Given the description of an element on the screen output the (x, y) to click on. 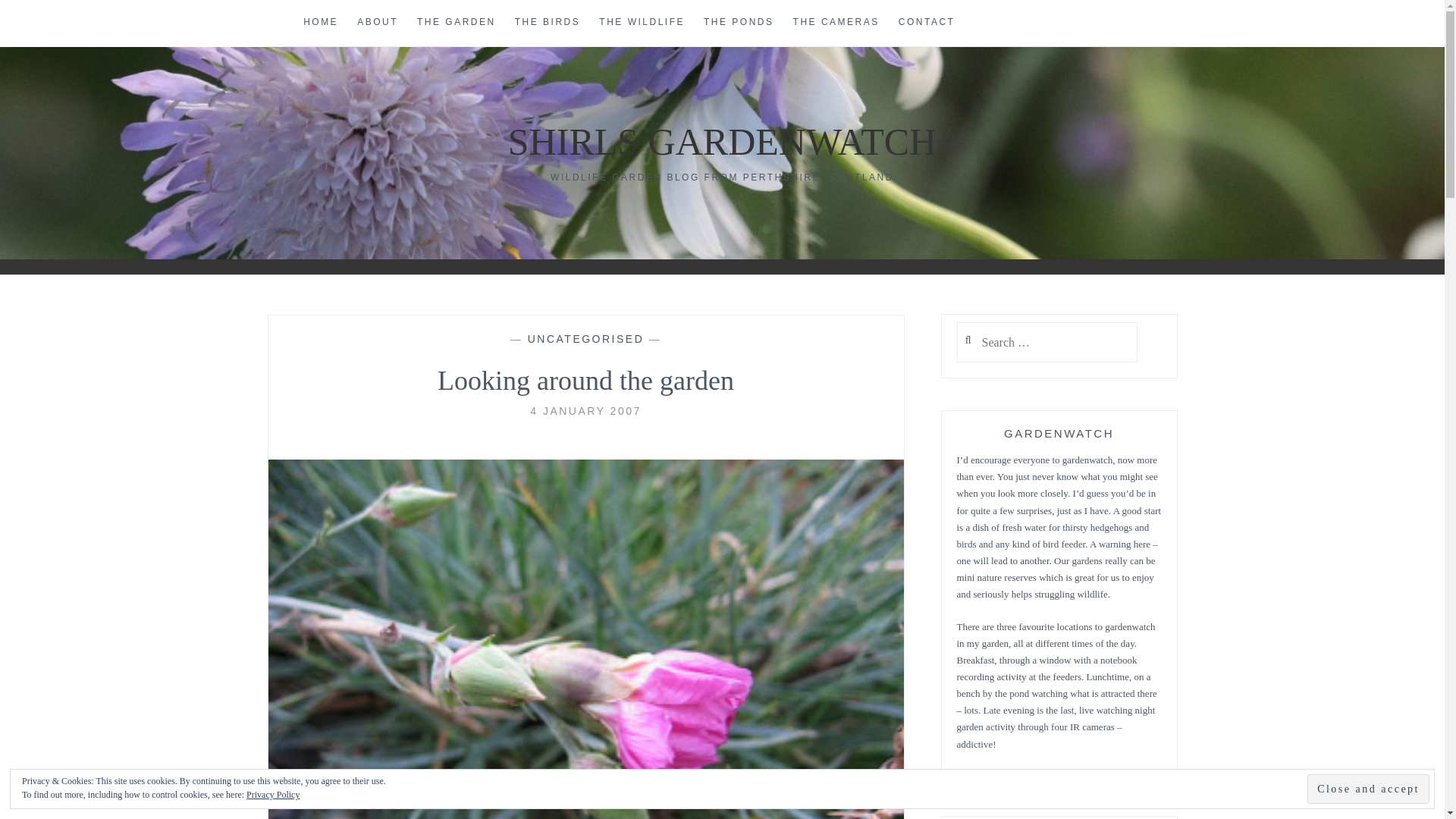
THE GARDEN (456, 22)
THE WILDLIFE (641, 22)
Search (42, 19)
SHIRLS GARDENWATCH (722, 141)
UNCATEGORISED (586, 338)
HOME (319, 22)
THE BIRDS (547, 22)
THE PONDS (738, 22)
ABOUT (376, 22)
THE CAMERAS (836, 22)
CONTACT (926, 22)
Close and accept (1368, 788)
